Given the description of an element on the screen output the (x, y) to click on. 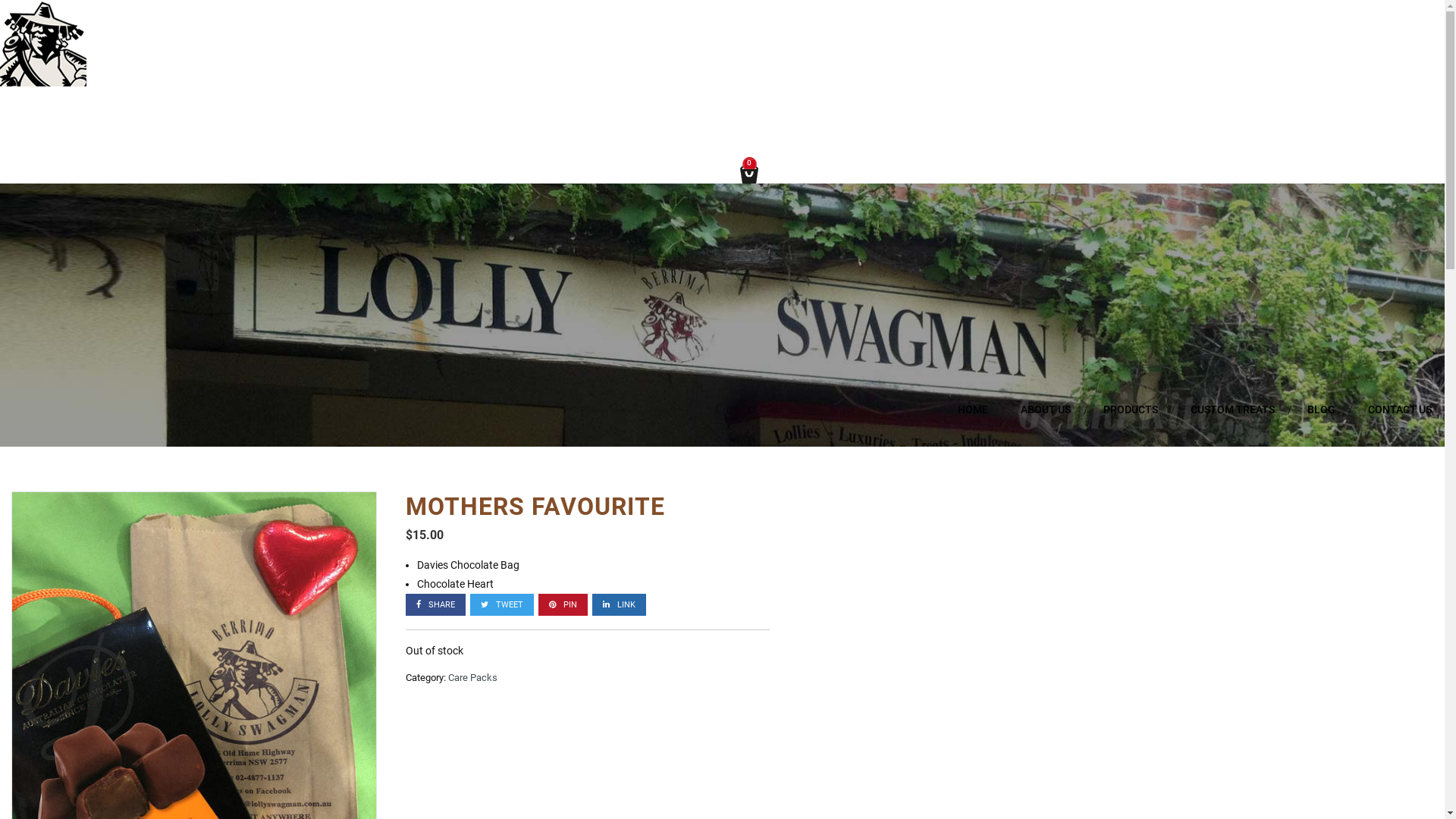
BLOG Element type: text (1321, 408)
Care Packs Element type: text (472, 677)
CUSTOM TREATS Element type: text (1232, 408)
LINK Element type: text (619, 604)
ABOUT US Element type: text (1045, 408)
SHARE Element type: text (435, 604)
PRODUCTS Element type: text (1130, 408)
CONTACT US Element type: text (1399, 408)
HOME Element type: text (972, 408)
Lolly Swagman Element type: hover (43, 82)
TWEET Element type: text (501, 604)
PIN Element type: text (562, 604)
